Given the description of an element on the screen output the (x, y) to click on. 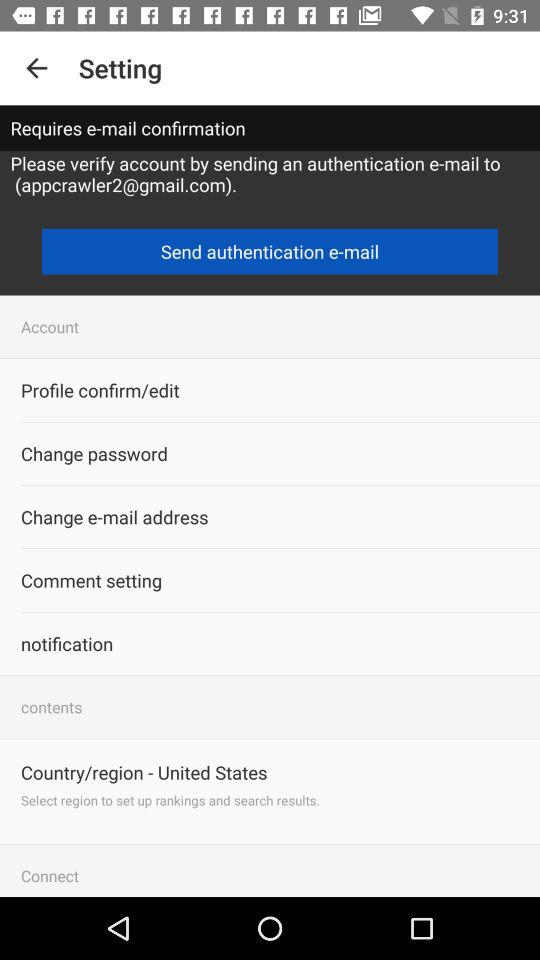
select the blue color box (269, 251)
